Given the description of an element on the screen output the (x, y) to click on. 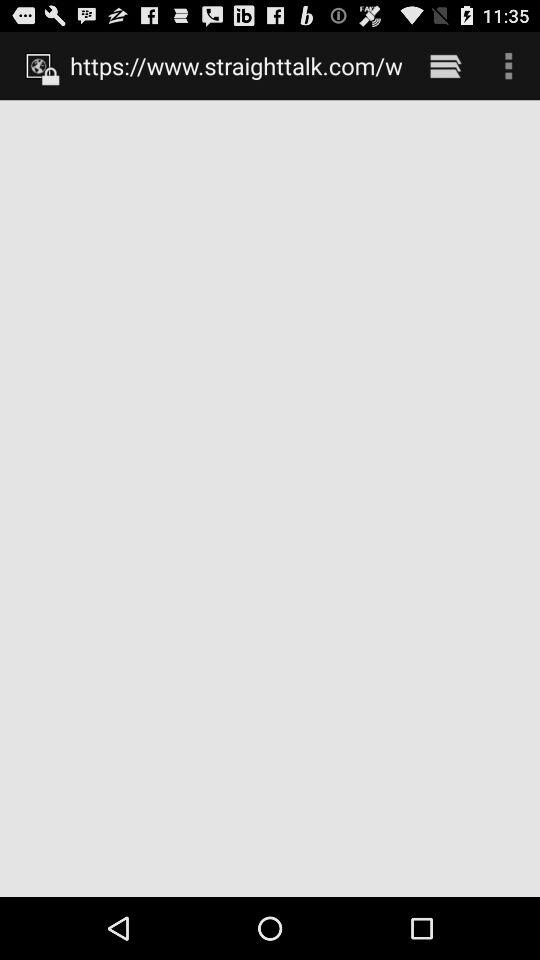
press the item to the right of https www straighttalk icon (444, 65)
